Given the description of an element on the screen output the (x, y) to click on. 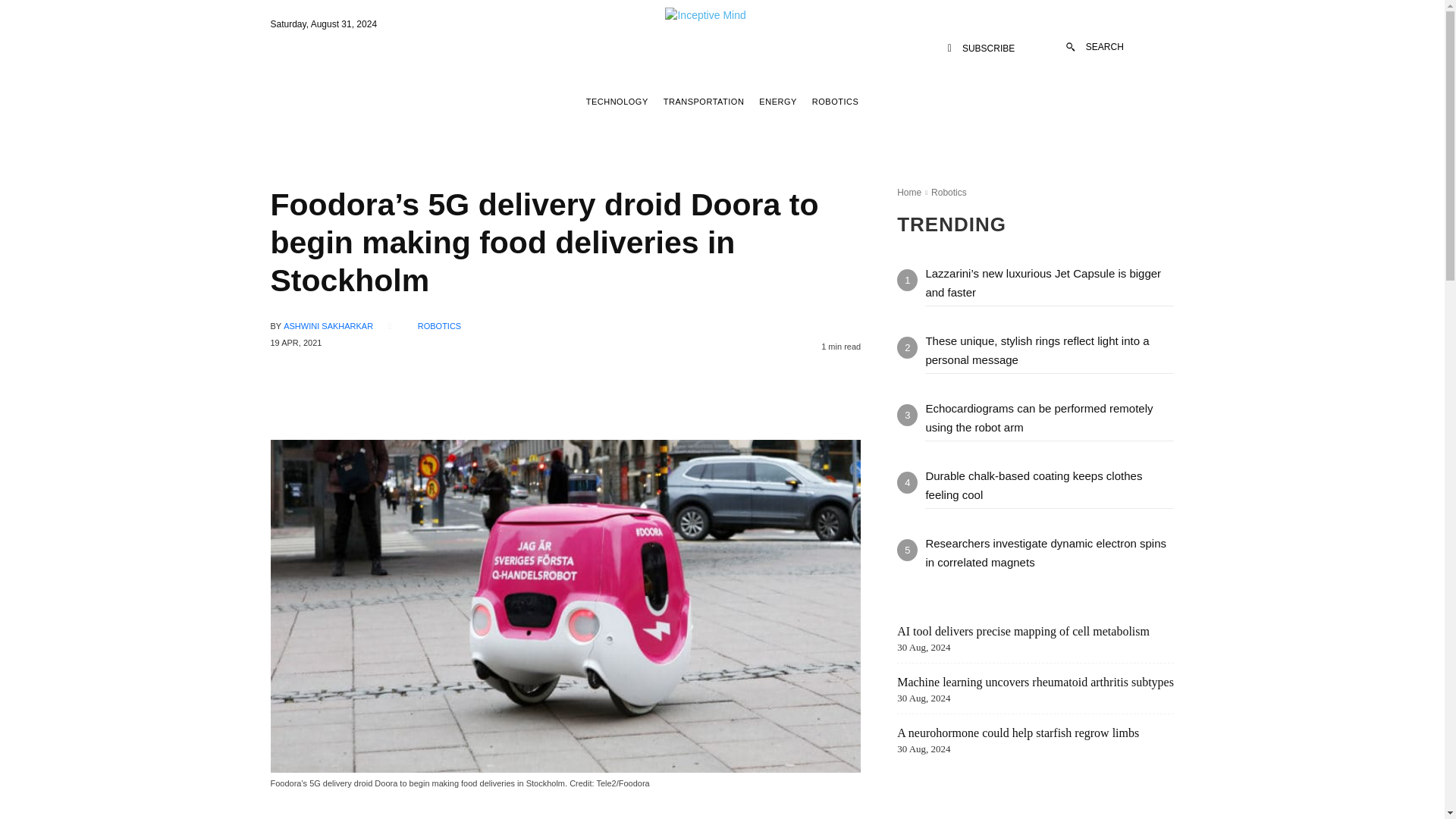
ROBOTICS (834, 101)
ROBOTICS (439, 326)
TECHNOLOGY (617, 101)
SEARCH (1094, 46)
ENERGY (777, 101)
Durable chalk-based coating keeps clothes feeling cool (1032, 485)
SUBSCRIBE (980, 48)
SEARCH (1094, 46)
